Given the description of an element on the screen output the (x, y) to click on. 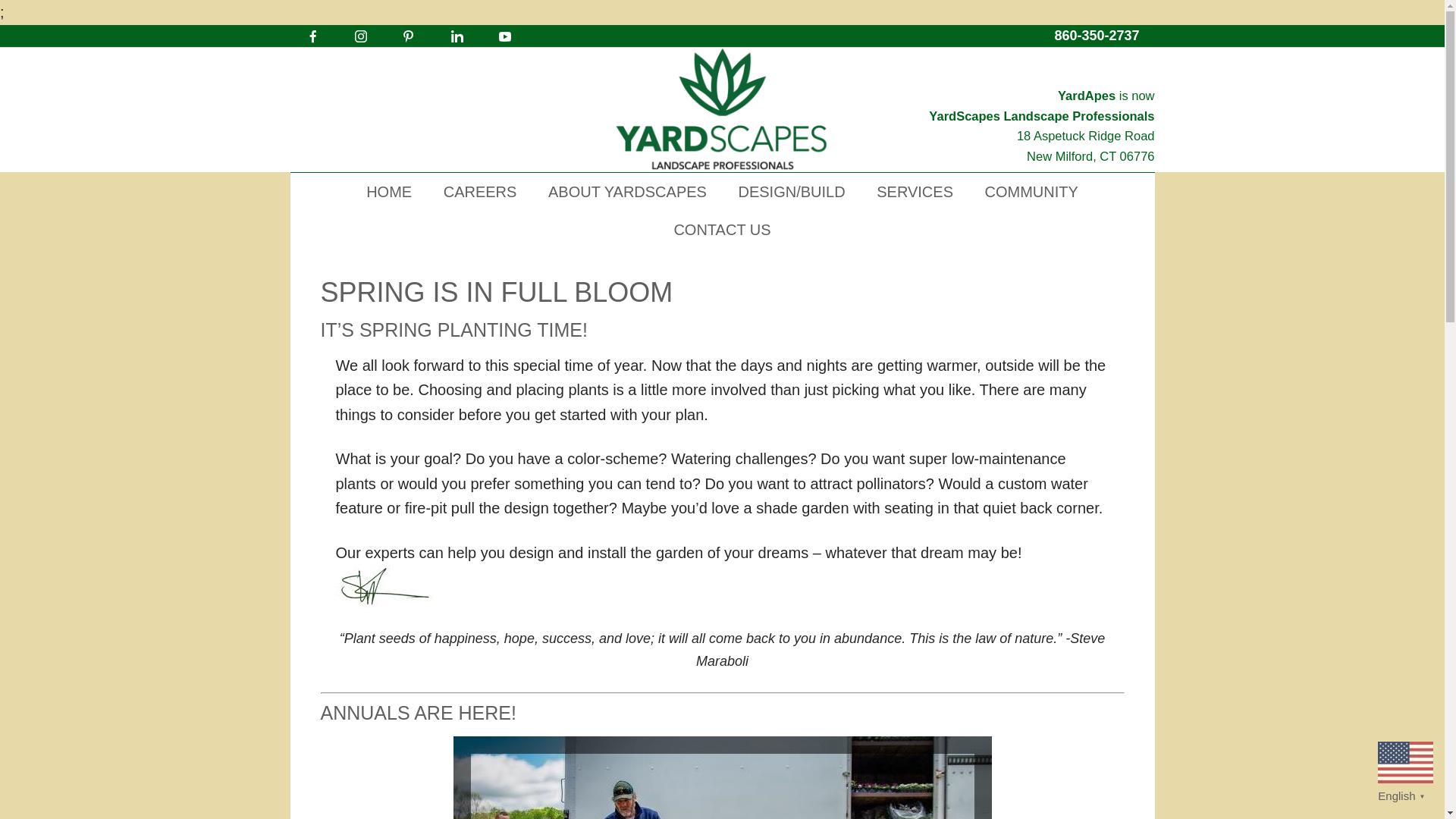
CAREERS (480, 191)
SERVICES (914, 191)
ABOUT YARDSCAPES (627, 191)
YARDSCAPES LANDSCAPE (721, 109)
860-350-2737 (1041, 105)
HOME (1096, 34)
